Given the description of an element on the screen output the (x, y) to click on. 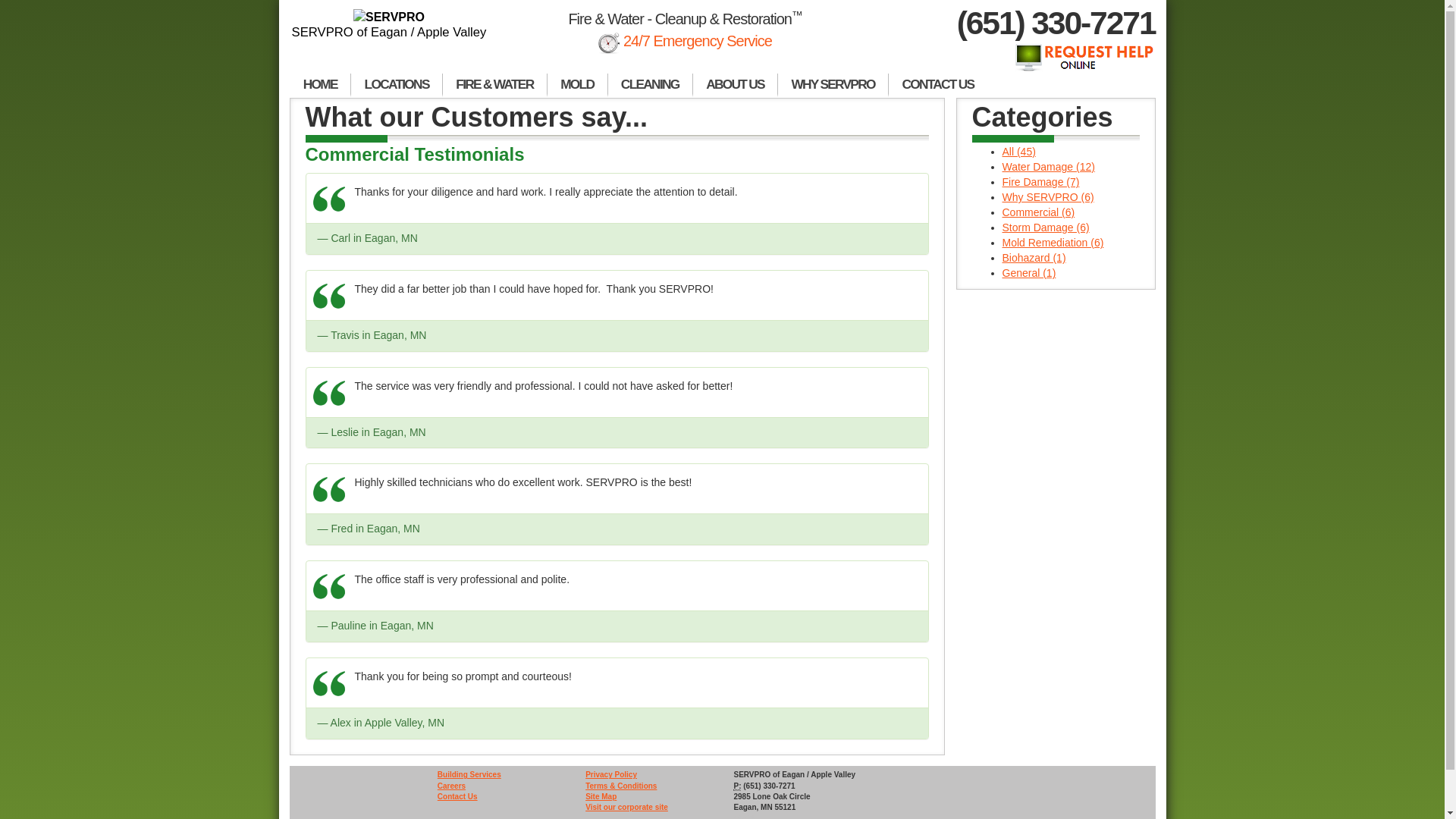
ABOUT US (735, 85)
MOLD (577, 85)
CLEANING (650, 85)
HOME (319, 85)
LOCATIONS (396, 85)
